Given the description of an element on the screen output the (x, y) to click on. 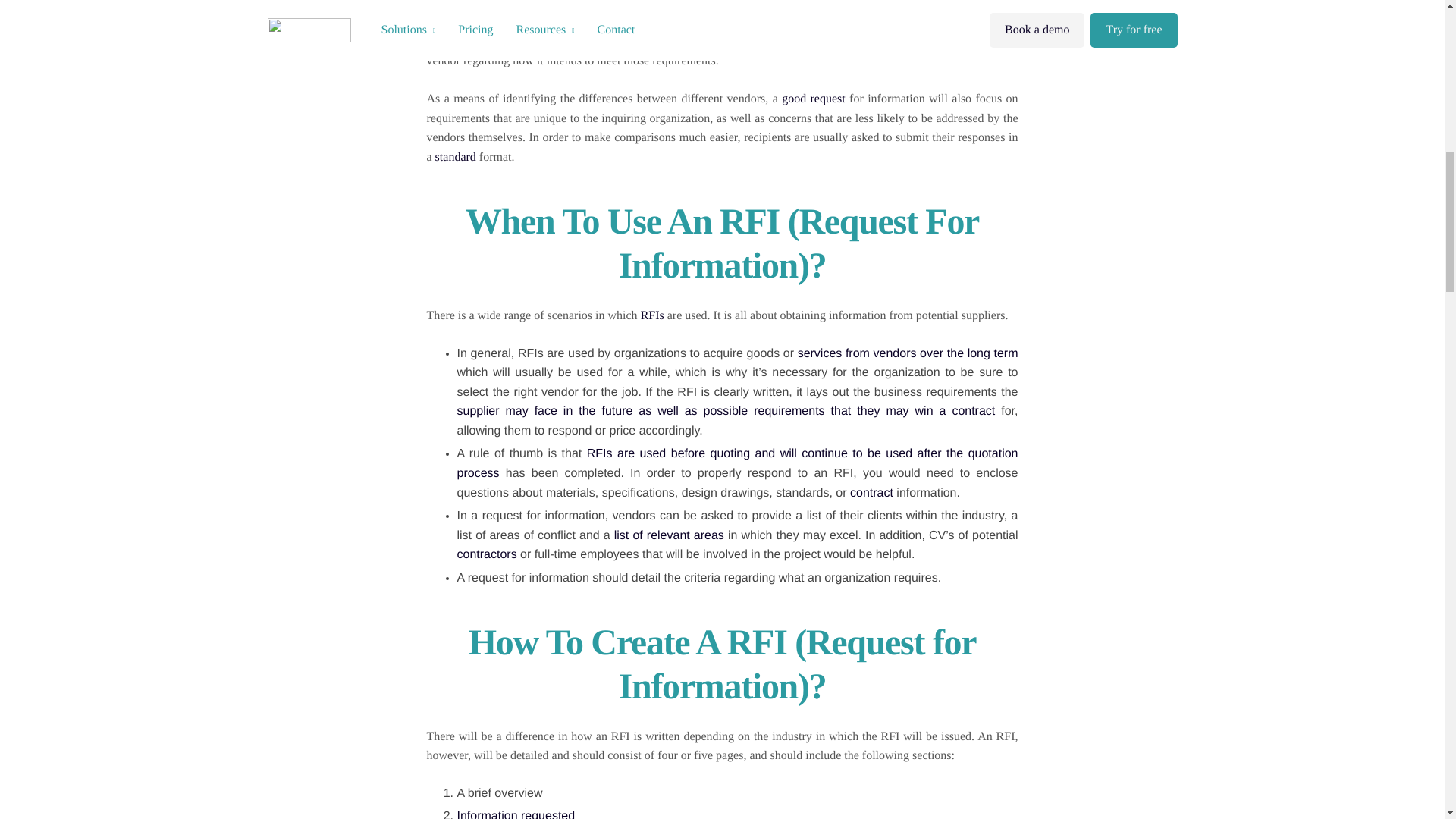
specific (924, 42)
company to use an RFI (864, 4)
good request (813, 98)
